Given the description of an element on the screen output the (x, y) to click on. 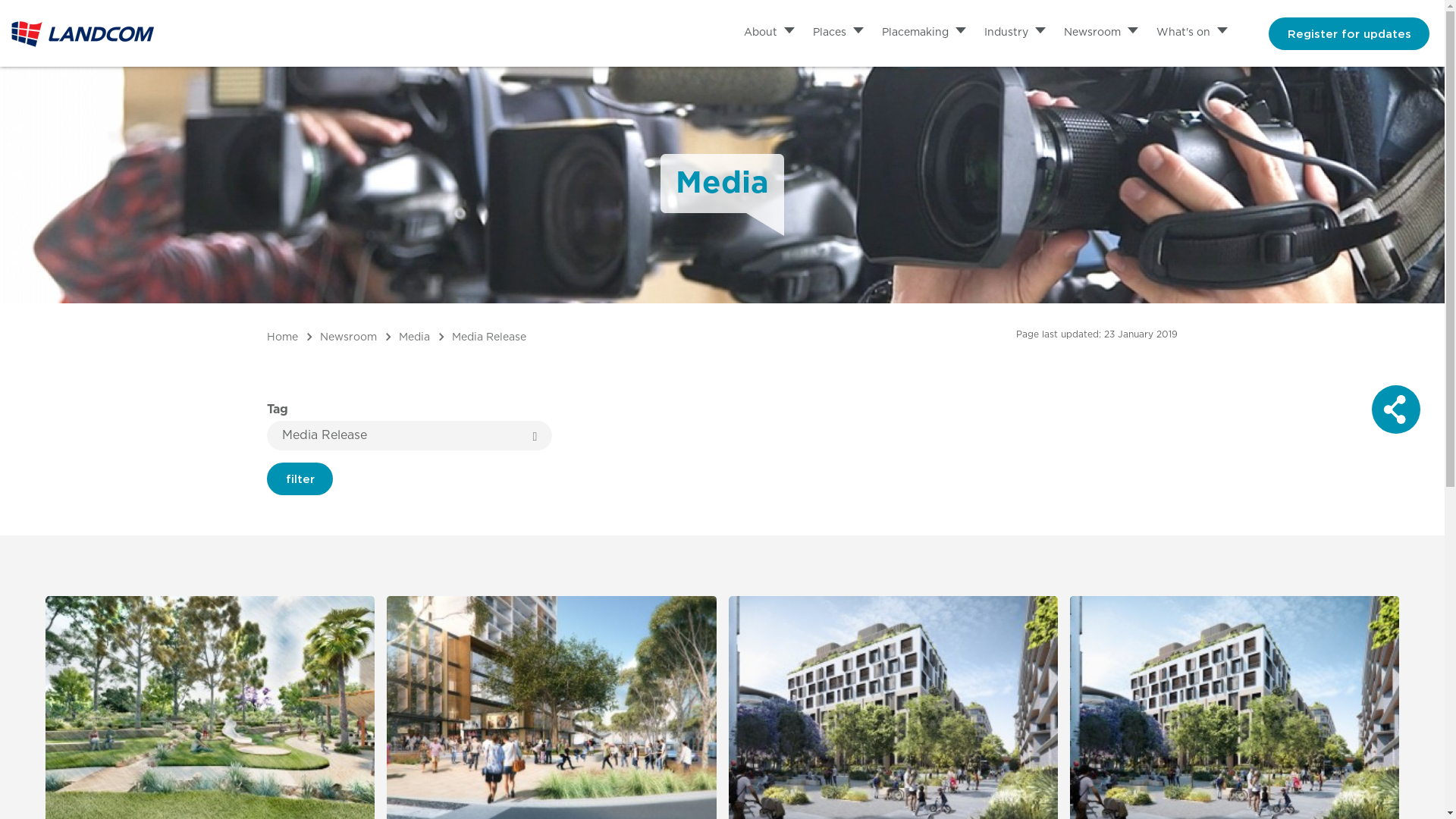
Open sub items Element type: text (1040, 31)
What's on Element type: text (1181, 31)
Open sub items Element type: text (1132, 31)
Open sub items Element type: text (789, 31)
About Element type: text (758, 31)
Newsroom Element type: text (1090, 31)
Media Element type: text (415, 337)
Home Element type: text (283, 337)
Open sub items Element type: text (1222, 31)
Industry Element type: text (1004, 31)
Media Release Element type: text (488, 337)
Register for updates Element type: text (1348, 32)
Open sub items Element type: text (960, 31)
Placemaking Element type: text (913, 31)
Newsroom Element type: text (349, 337)
Go to the home page Element type: hover (82, 33)
Places Element type: text (827, 31)
Open sub items Element type: text (858, 31)
filter Element type: text (299, 478)
